Given the description of an element on the screen output the (x, y) to click on. 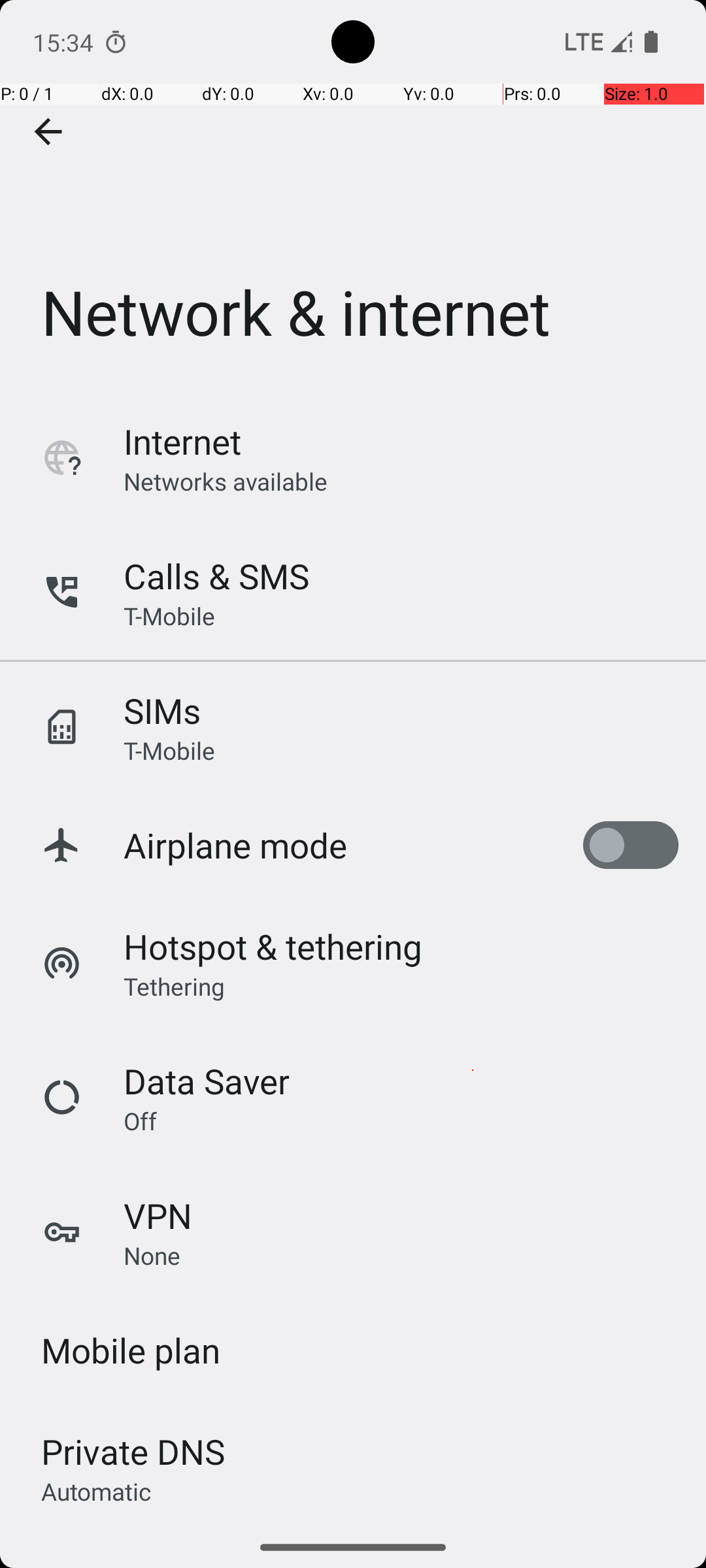
Tethering Element type: android.widget.TextView (174, 985)
